Given the description of an element on the screen output the (x, y) to click on. 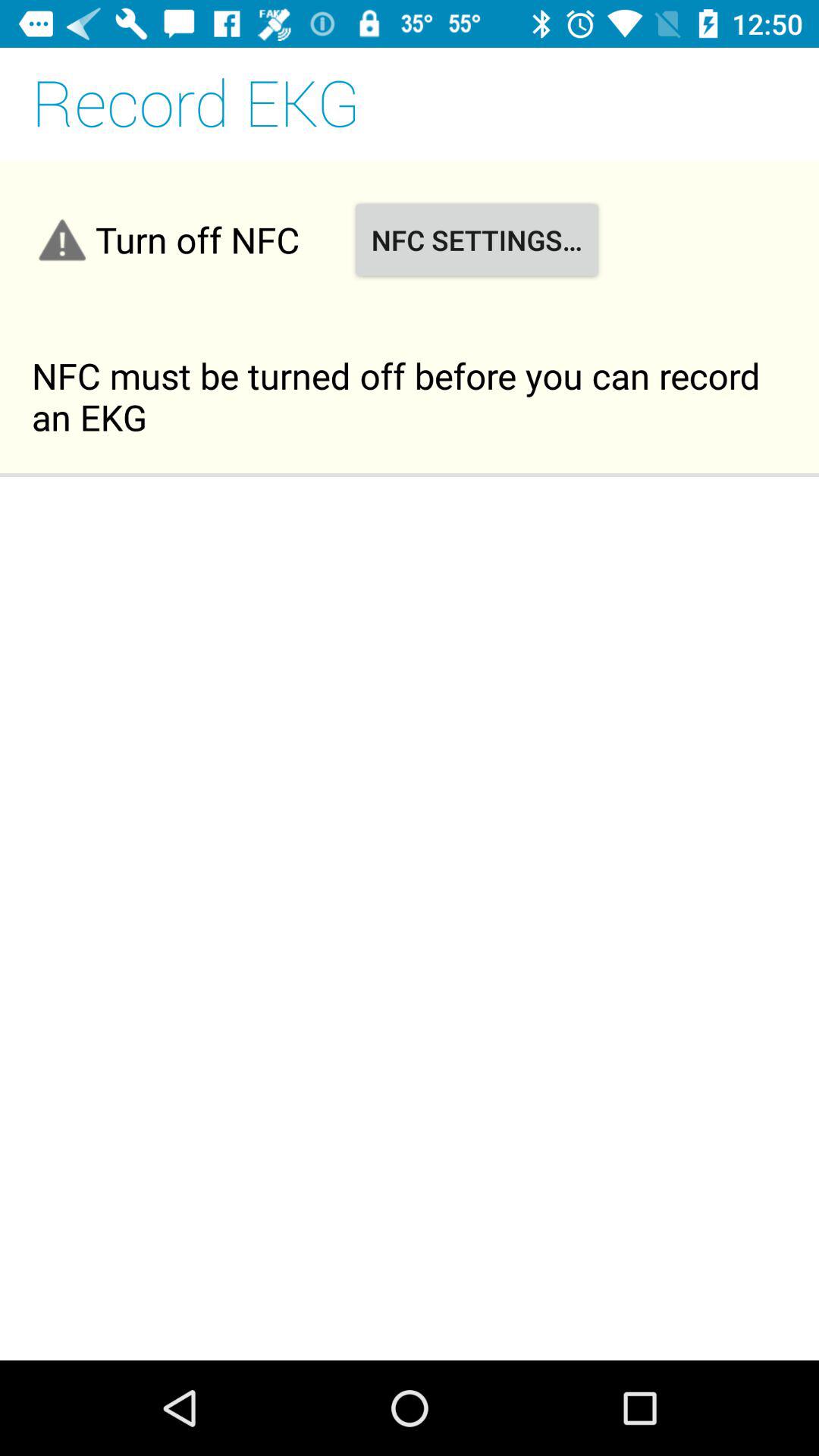
tap the item to the right of turn off nfc item (476, 239)
